Given the description of an element on the screen output the (x, y) to click on. 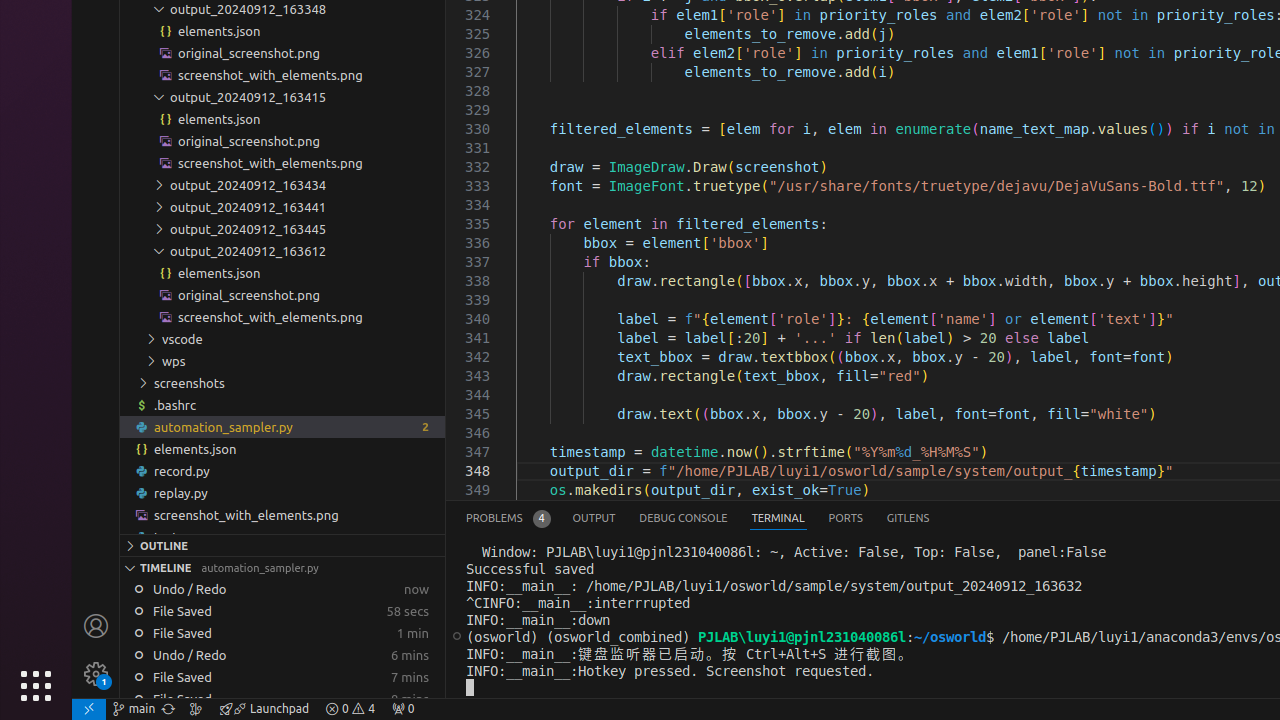
wps Element type: tree-item (282, 361)
Active View Switcher Element type: page-tab-list (698, 518)
record.py Element type: tree-item (282, 470)
Terminal (Ctrl+`) Element type: page-tab (778, 518)
vscode Element type: tree-item (282, 339)
